Given the description of an element on the screen output the (x, y) to click on. 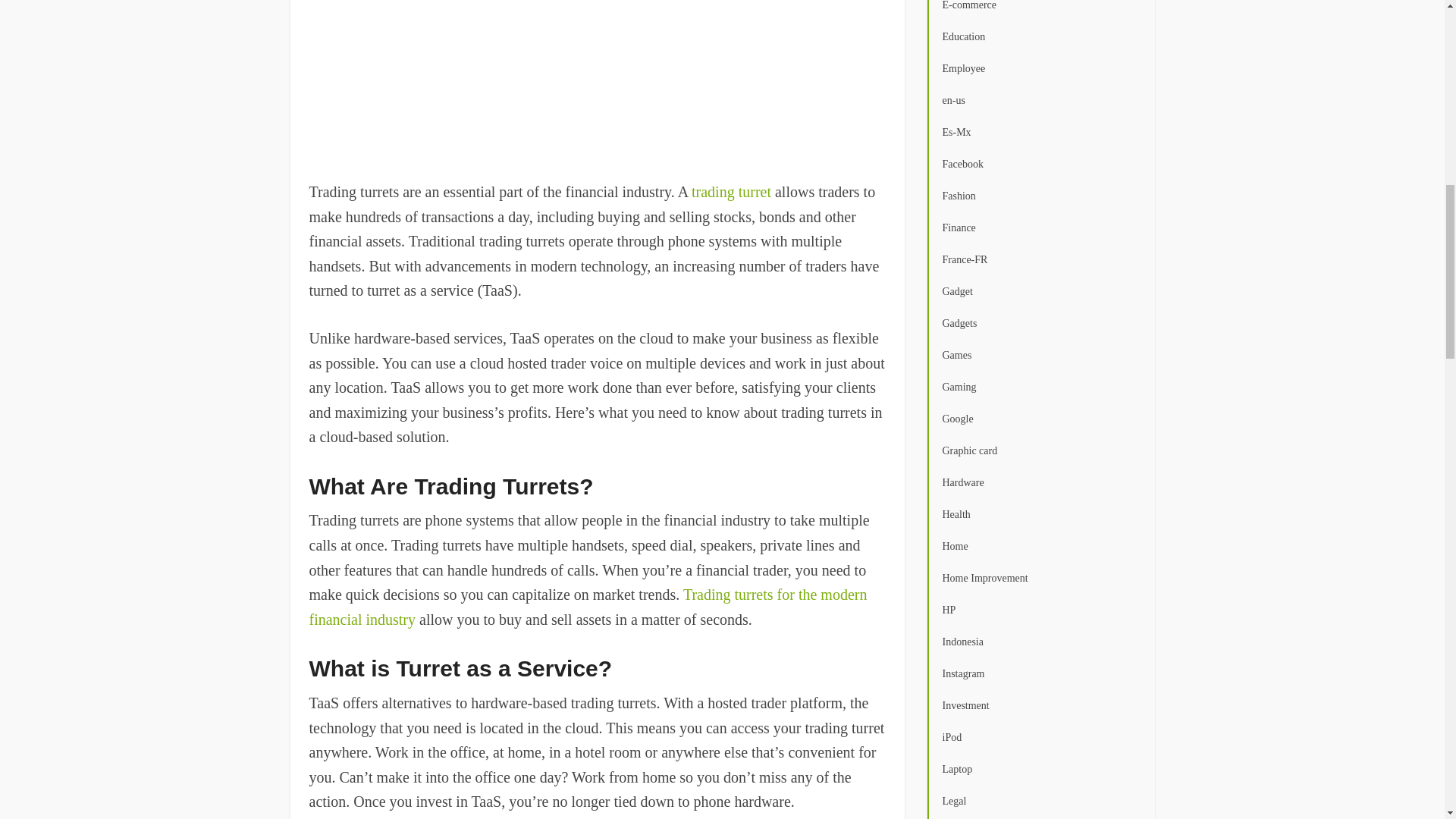
Trading turrets for the modern financial industry (587, 607)
Advertisement (596, 82)
trading turret (731, 191)
